Given the description of an element on the screen output the (x, y) to click on. 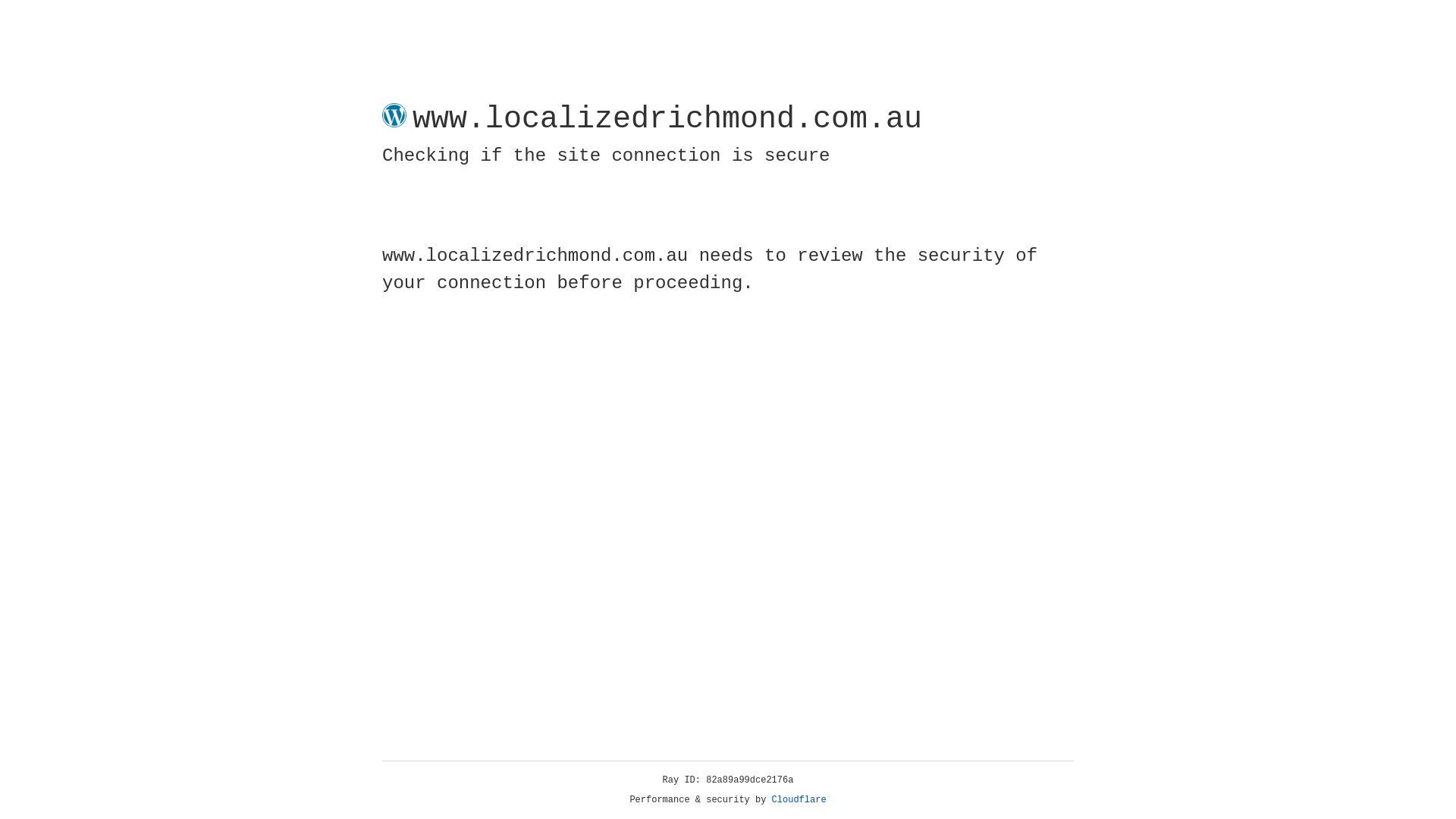
Cloudflare Element type: text (798, 799)
